Given the description of an element on the screen output the (x, y) to click on. 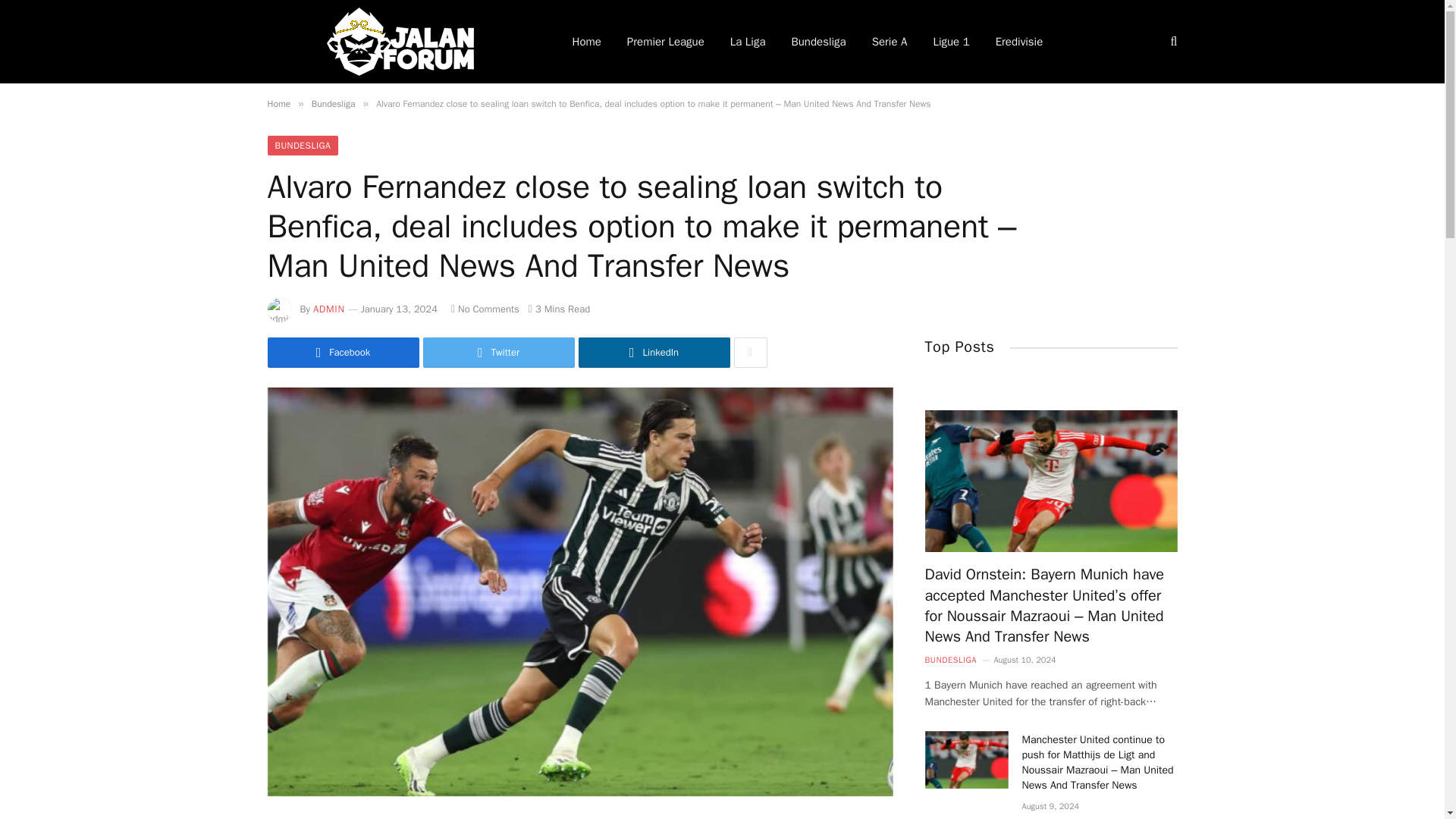
Jalanforum News (399, 41)
No Comments (485, 308)
ADMIN (329, 308)
Posts by admin (329, 308)
Bundesliga (818, 41)
Premier League (665, 41)
Share on LinkedIn (653, 352)
Twitter (499, 352)
Share on Twitter (499, 352)
Bundesliga (333, 103)
